Given the description of an element on the screen output the (x, y) to click on. 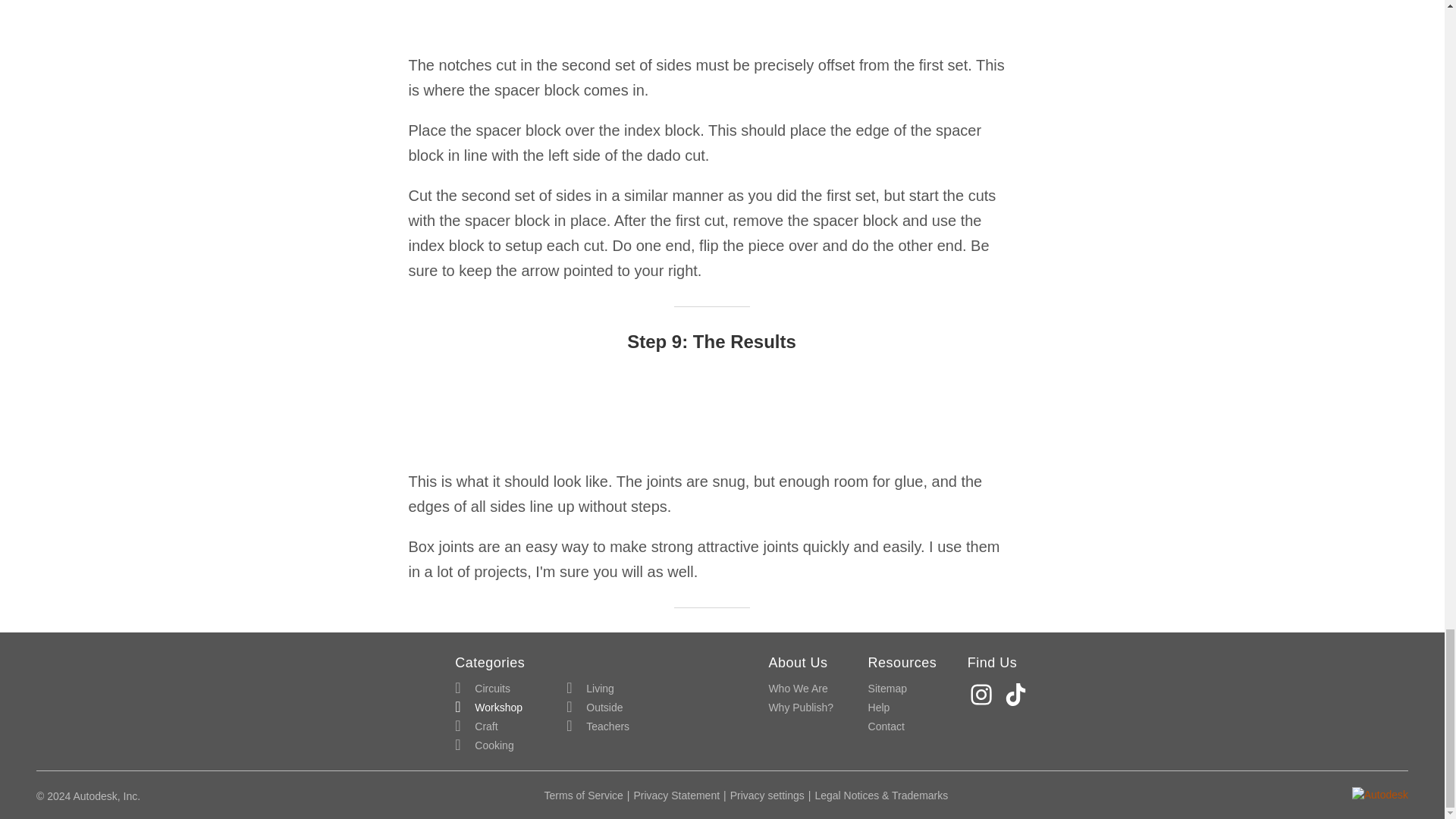
Why Publish? (800, 707)
Instagram (983, 694)
Terms of Service (583, 795)
Sitemap (887, 688)
Cooking (483, 745)
Privacy Statement (676, 795)
Privacy settings (767, 795)
Outside (594, 707)
Teachers (597, 726)
Circuits (482, 688)
